Given the description of an element on the screen output the (x, y) to click on. 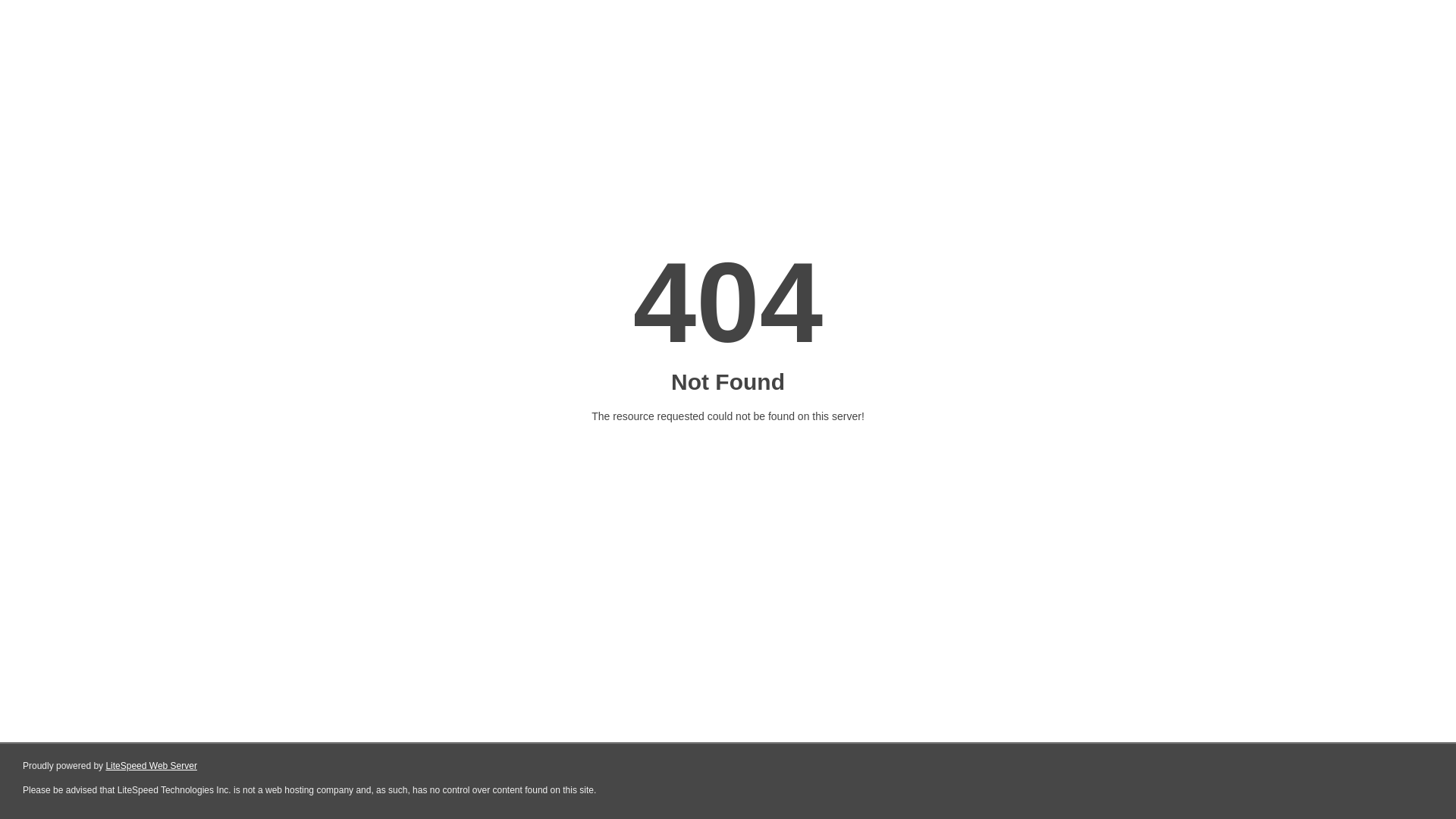
LiteSpeed Web Server Element type: text (151, 765)
